Given the description of an element on the screen output the (x, y) to click on. 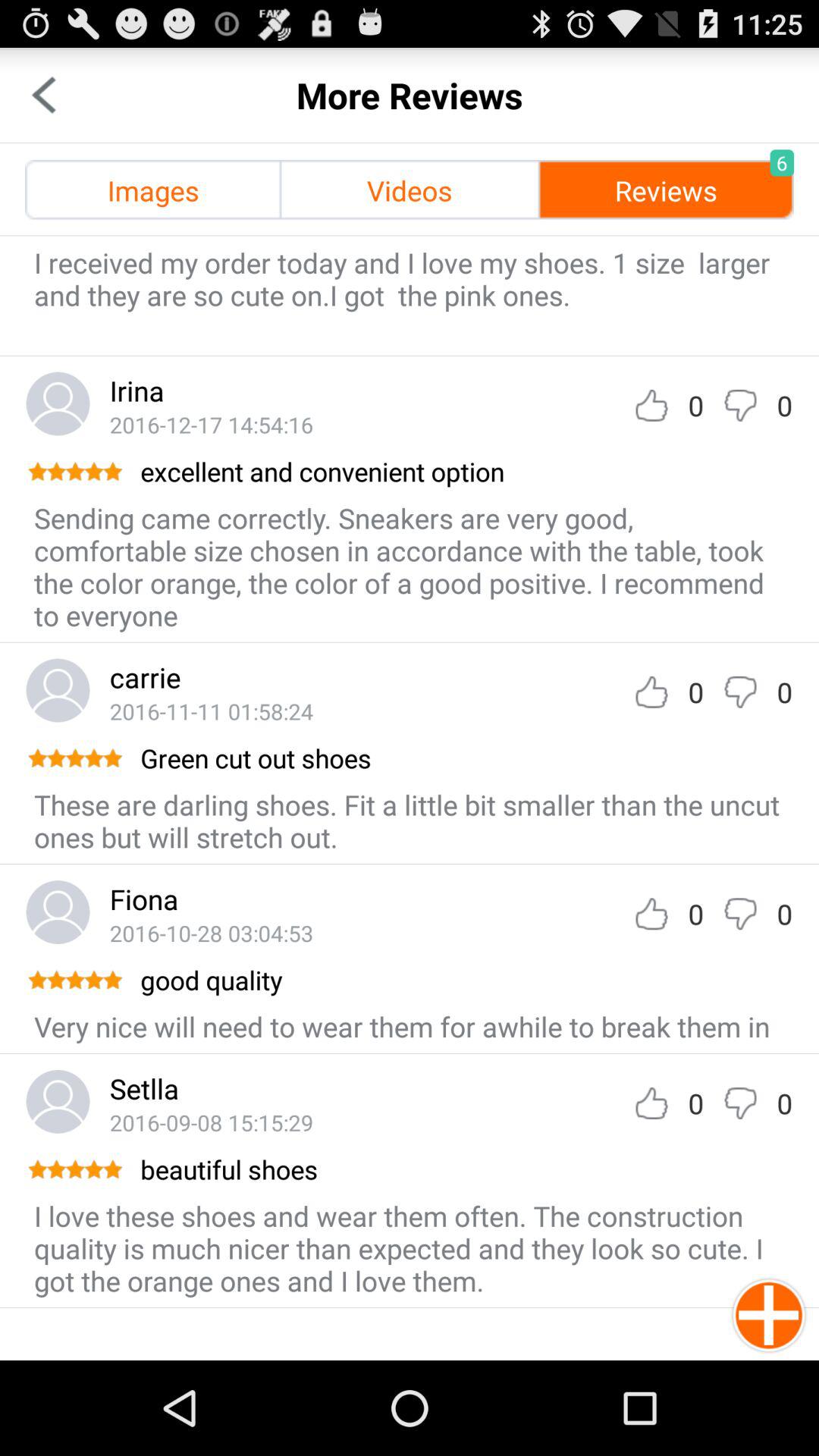
click the app to the left of more reviews item (43, 95)
